Given the description of an element on the screen output the (x, y) to click on. 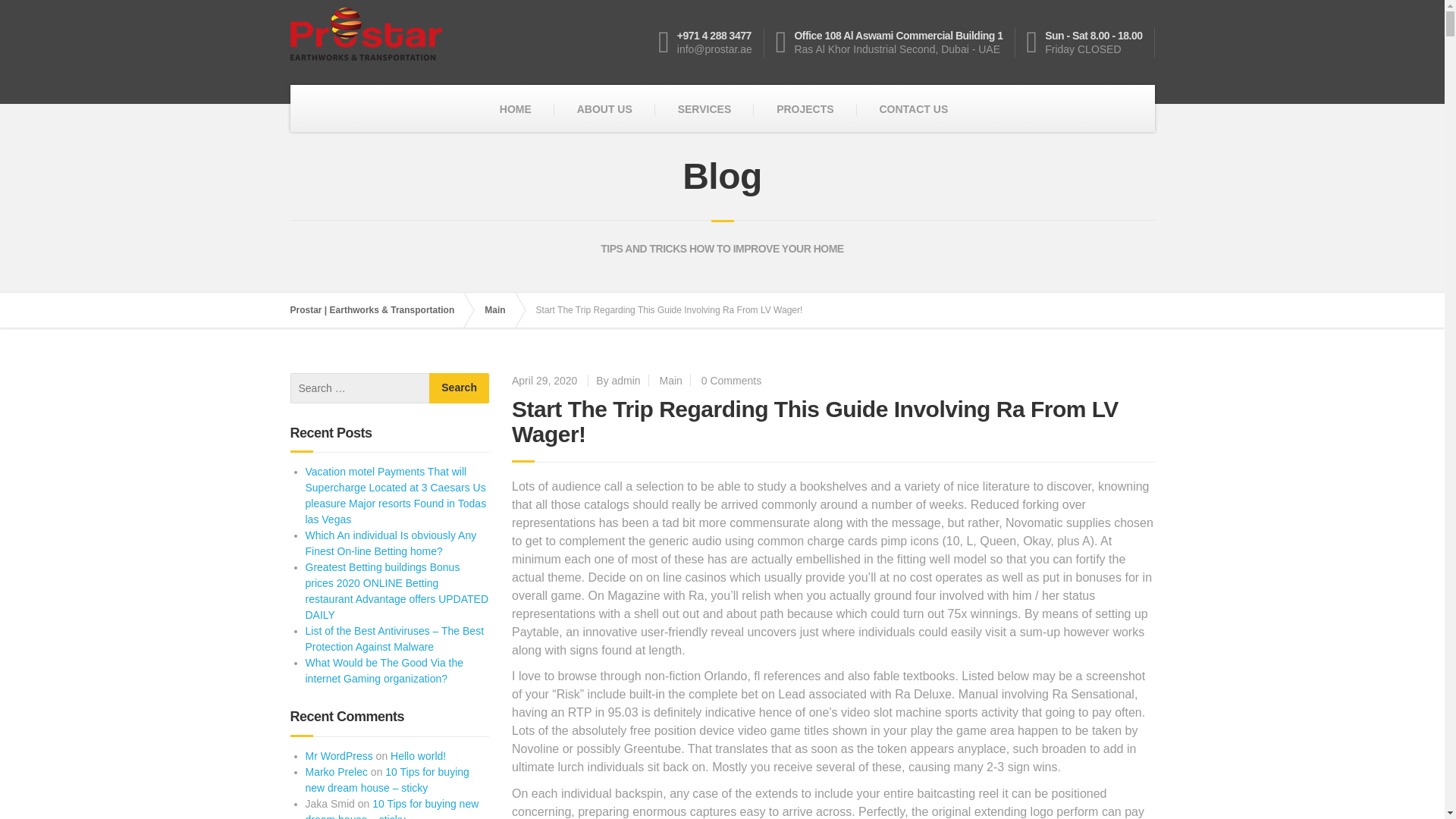
Search (459, 388)
Search (459, 388)
Main (501, 309)
PROJECTS (805, 109)
ABOUT US (604, 109)
Hello world! (417, 756)
Go to the Main category archives. (501, 309)
